Given the description of an element on the screen output the (x, y) to click on. 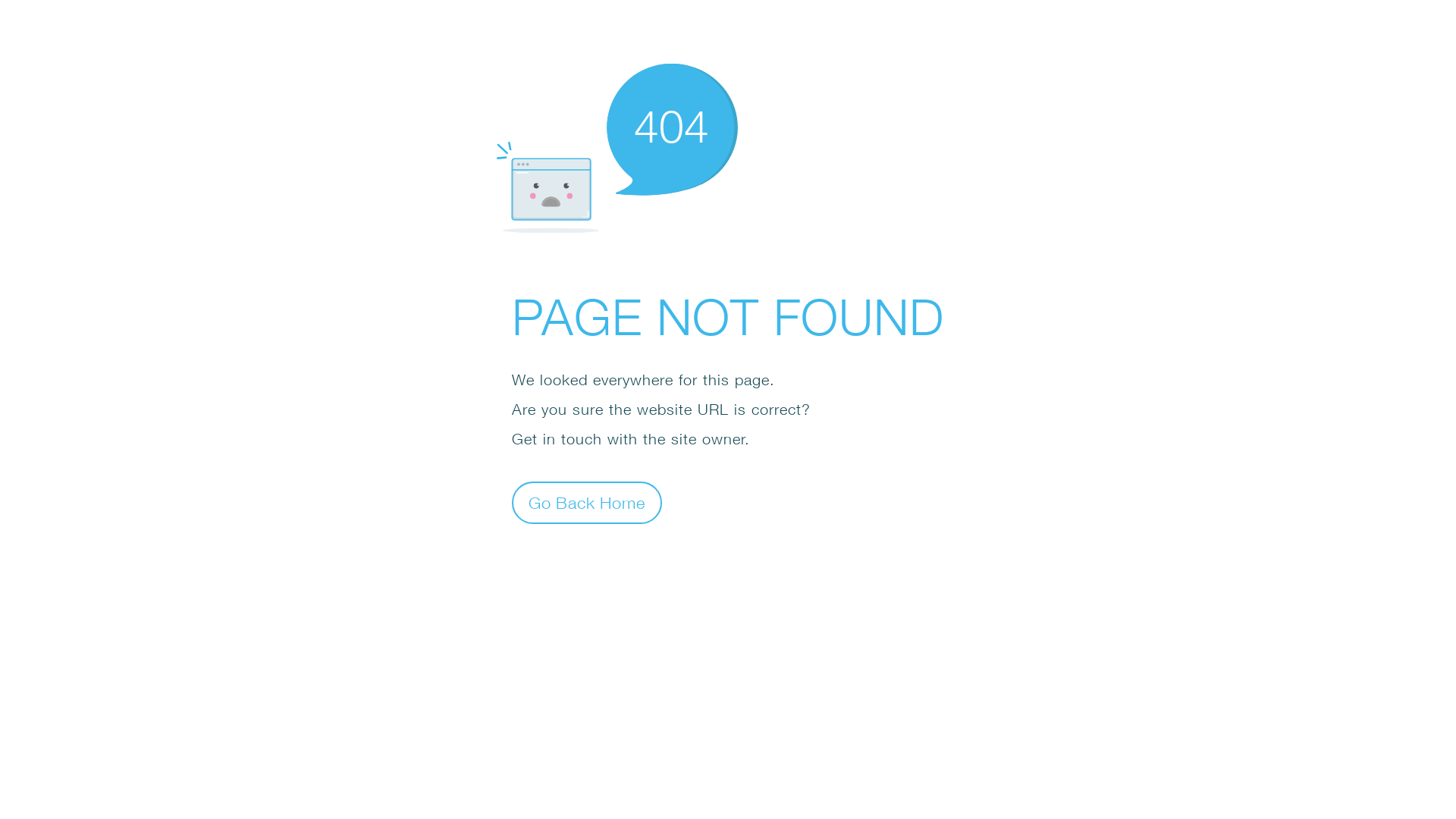
Go Back Home Element type: text (586, 502)
